Given the description of an element on the screen output the (x, y) to click on. 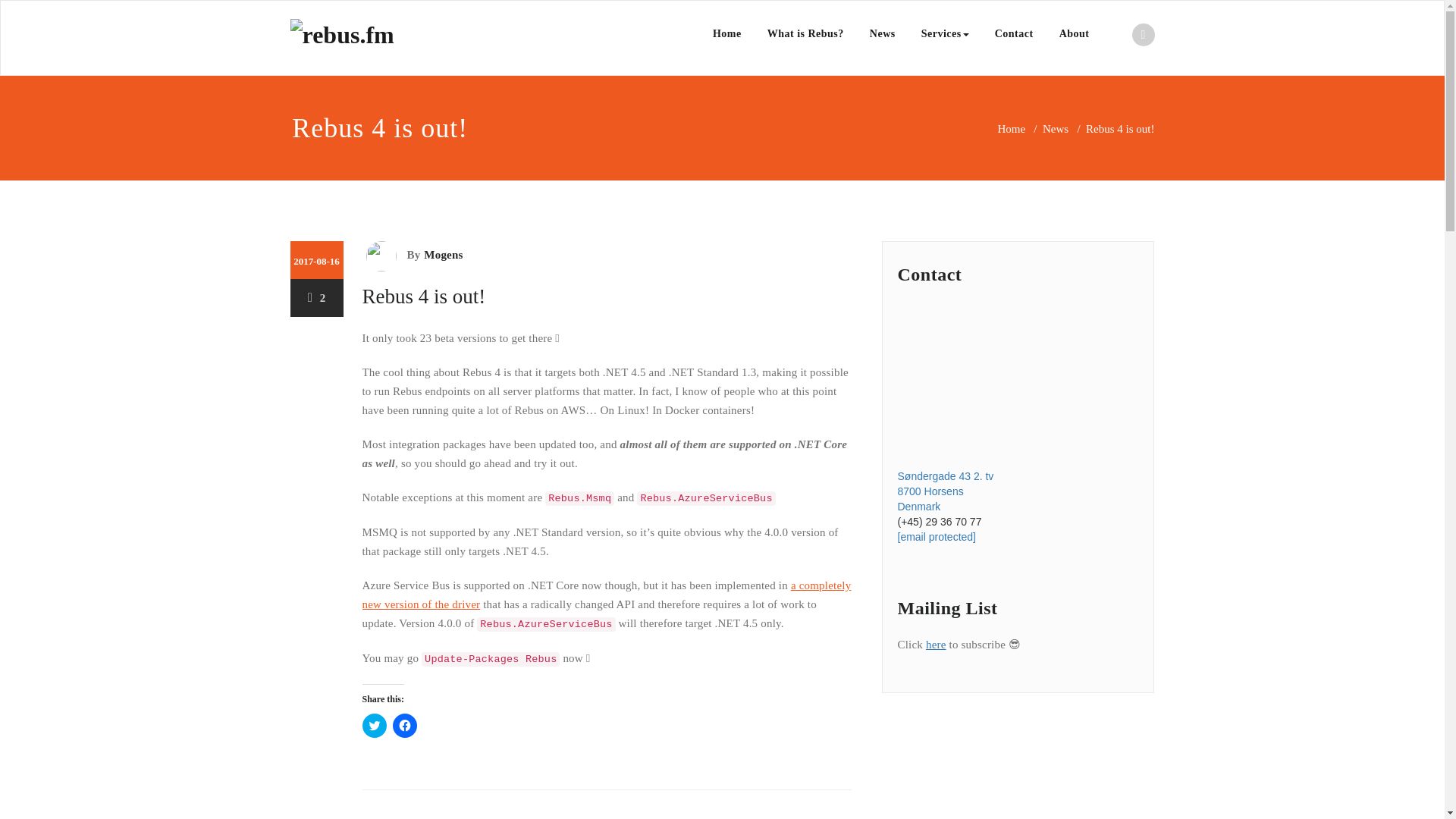
Services (944, 33)
Home (727, 33)
News (1055, 128)
rebus.fm (524, 38)
News (882, 33)
Contact (1013, 33)
2 (316, 297)
Click to share on Facebook (404, 725)
About (1074, 33)
Home (1011, 128)
